Given the description of an element on the screen output the (x, y) to click on. 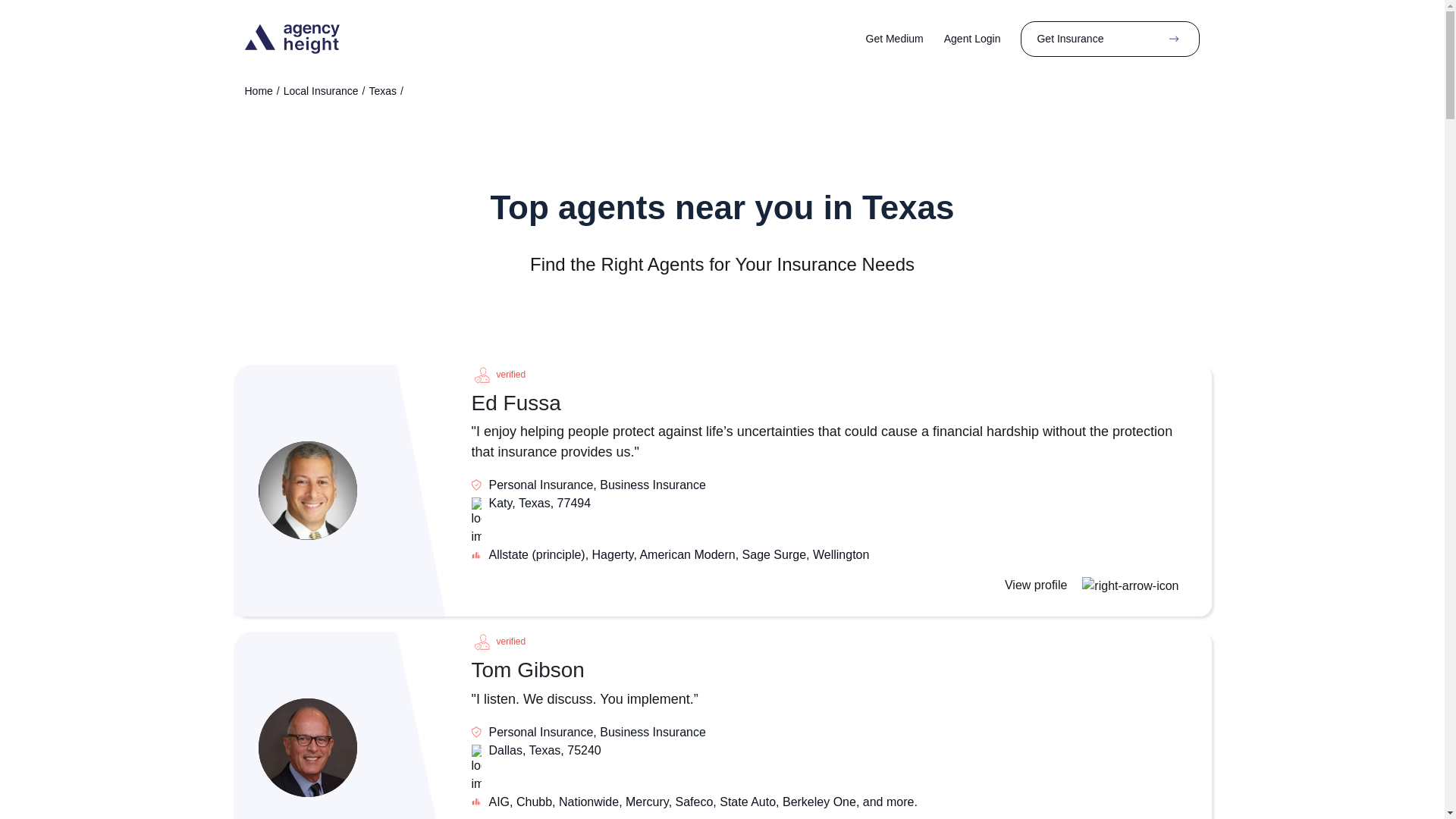
Agent Login (982, 38)
Texas (382, 91)
Get Medium (904, 38)
Home (258, 91)
View profile (1095, 584)
Get Insurance (1109, 38)
Local Insurance (320, 91)
